Given the description of an element on the screen output the (x, y) to click on. 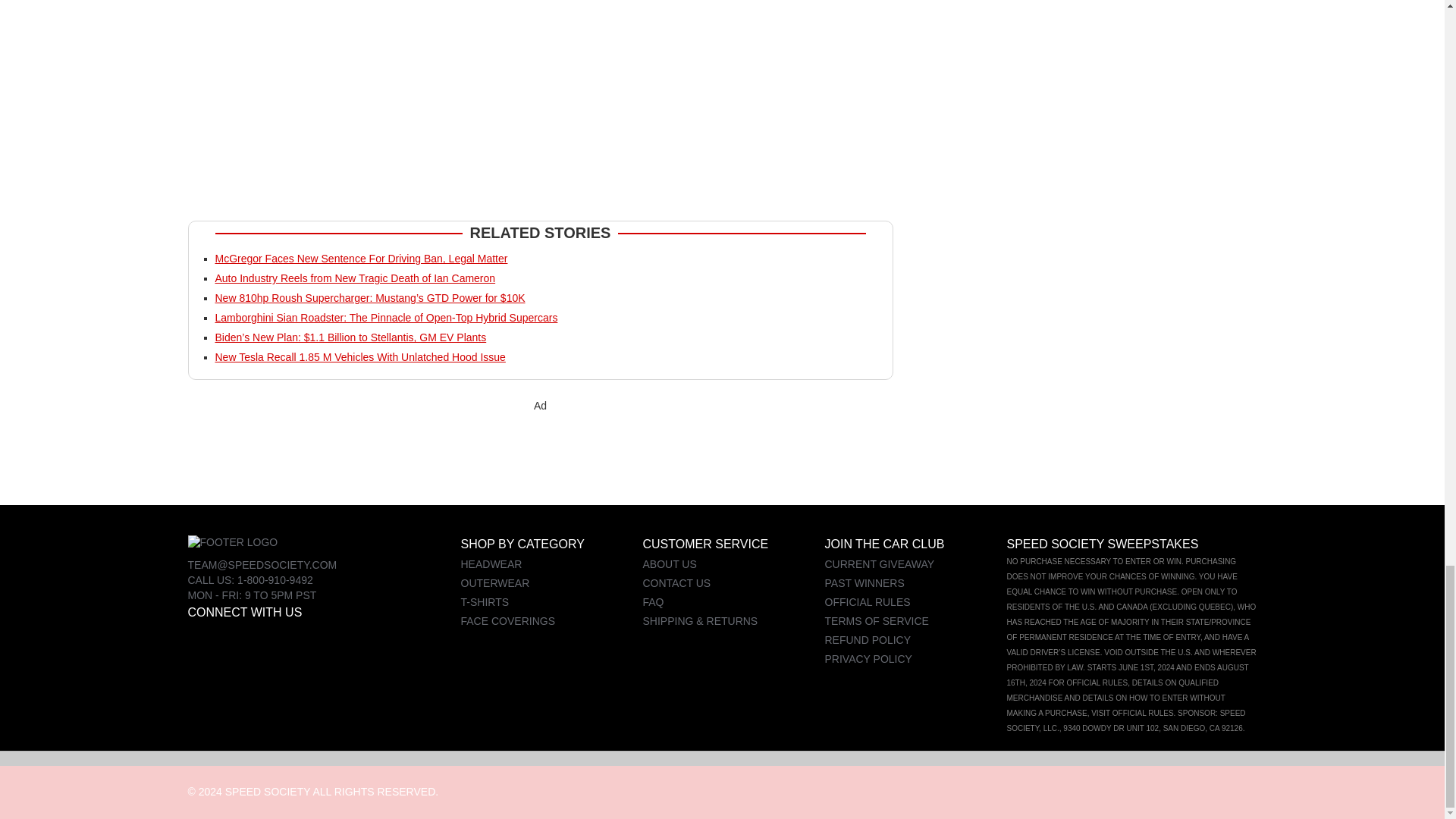
Auto Industry Reels from New Tragic Death of Ian Cameron (355, 277)
footer logo (232, 542)
McGregor Faces New Sentence For Driving Ban, Legal Matter (361, 258)
